Given the description of an element on the screen output the (x, y) to click on. 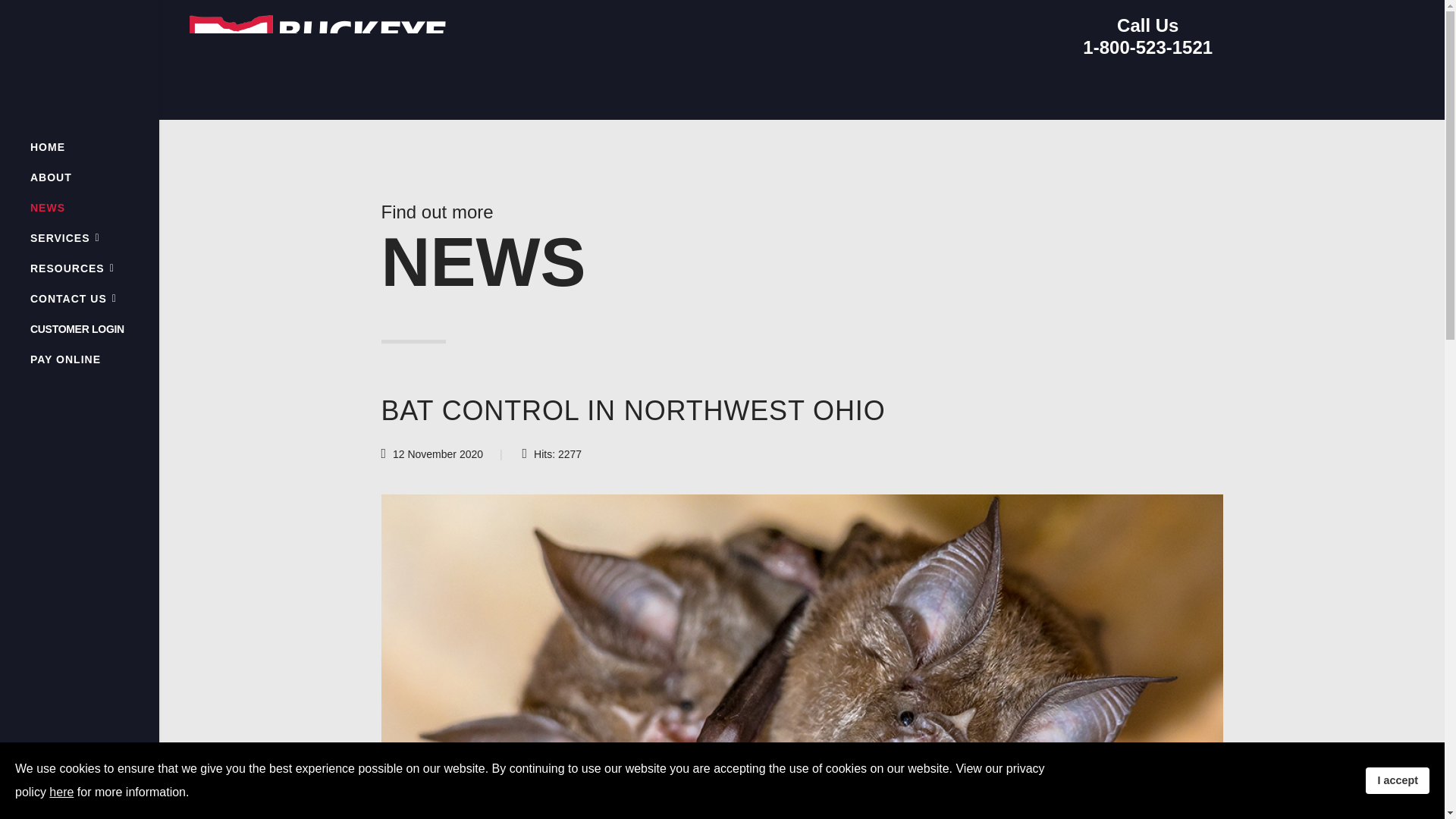
RESOURCES (72, 268)
NEWS (47, 207)
HOME (47, 146)
SERVICES (65, 237)
ABOUT (50, 177)
CUSTOMER LOGIN (76, 328)
PAY ONLINE (65, 358)
Published: 12 November 2020 (431, 454)
CONTACT US (73, 298)
